Given the description of an element on the screen output the (x, y) to click on. 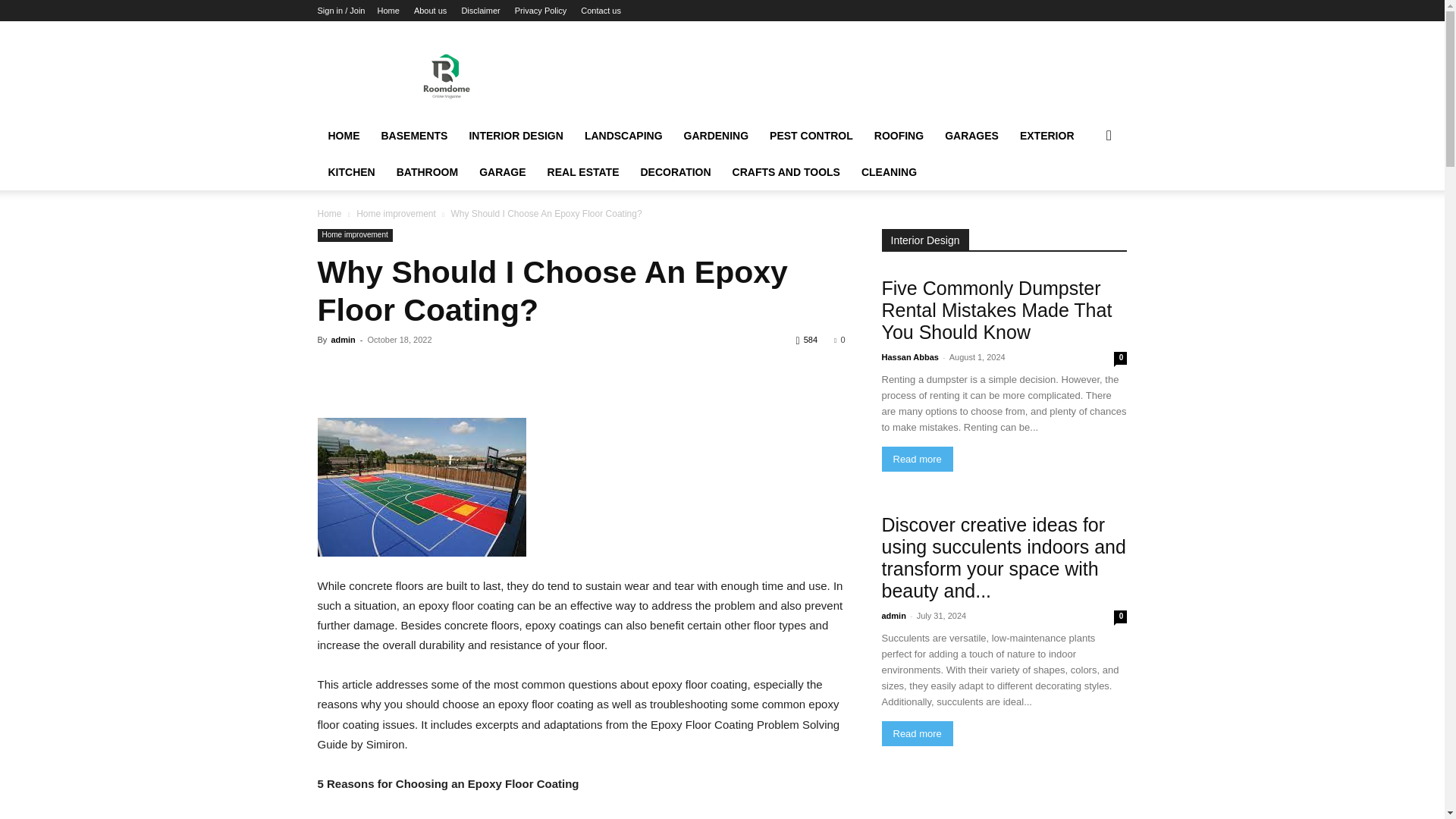
Privacy Policy (540, 10)
GARDENING (716, 135)
Contact us (600, 10)
KITCHEN (351, 171)
EXTERIOR (1046, 135)
INTERIOR DESIGN (515, 135)
Home (387, 10)
View all posts in Home improvement (395, 213)
BASEMENTS (413, 135)
GARAGES (971, 135)
LANDSCAPING (622, 135)
About us (429, 10)
PEST CONTROL (810, 135)
Disclaimer (480, 10)
HOME (343, 135)
